Given the description of an element on the screen output the (x, y) to click on. 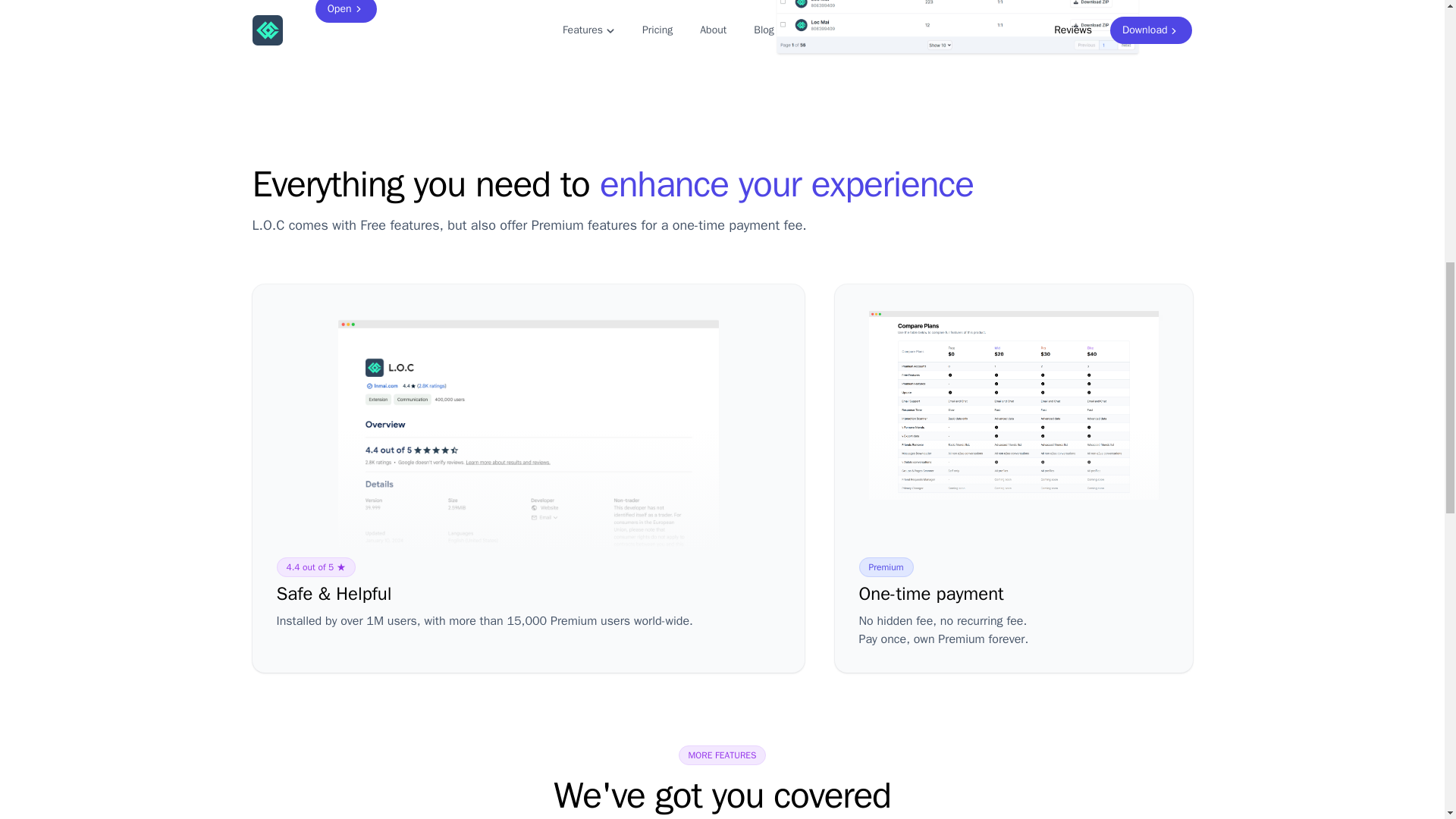
Open (346, 11)
